Given the description of an element on the screen output the (x, y) to click on. 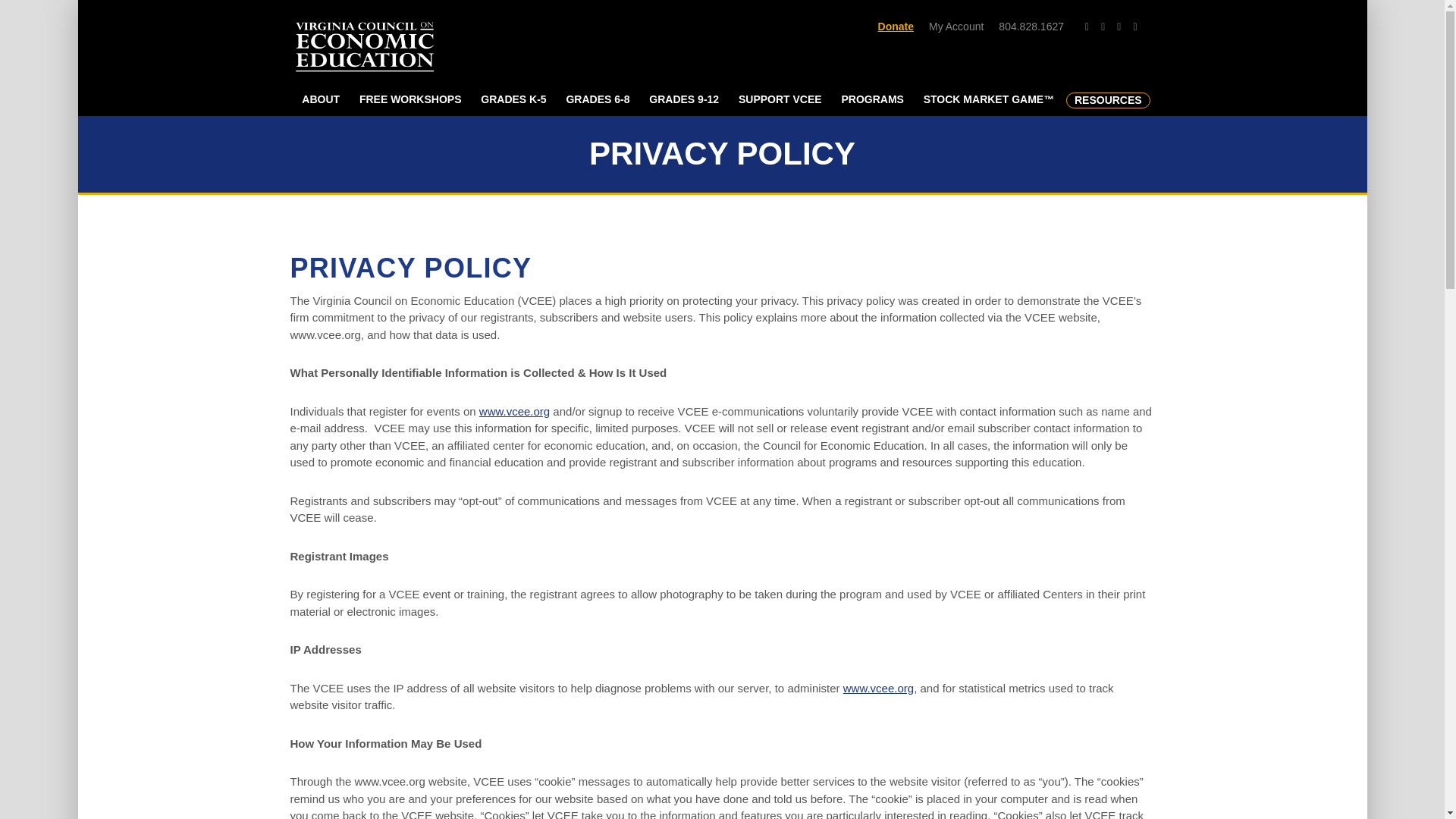
Donate (895, 26)
GRADES K-5 (513, 99)
ABOUT (320, 99)
GRADES 6-8 (597, 99)
FREE WORKSHOPS (410, 99)
My Account (956, 26)
VCEE Virginia Council on Economic Education (358, 49)
